Given the description of an element on the screen output the (x, y) to click on. 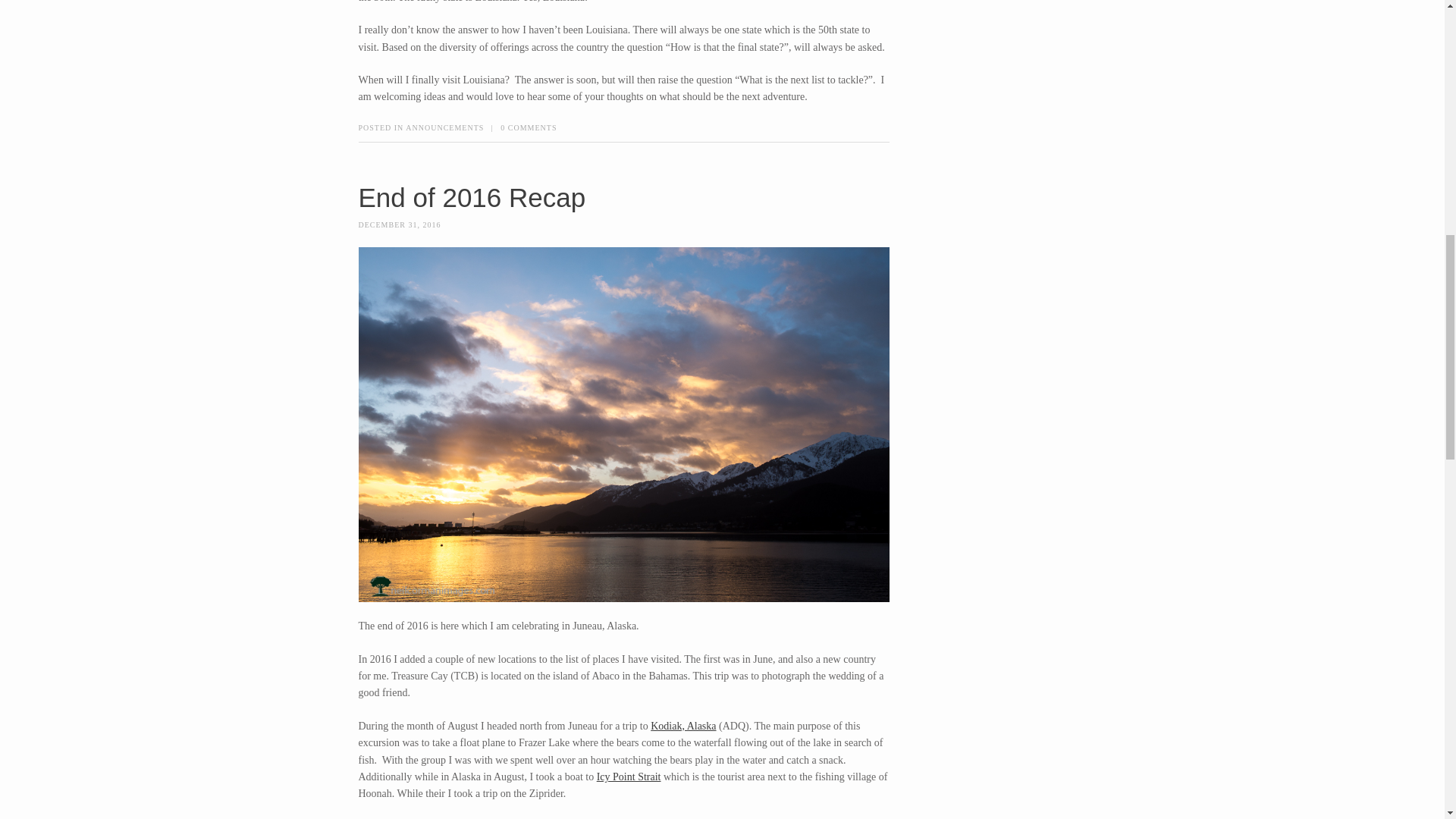
Kodiak, Alaska (683, 726)
Icy Point Strait (628, 776)
Permalink to End of 2016 Recap (471, 197)
7:30 pm (399, 224)
0 COMMENTS (528, 127)
ANNOUNCEMENTS (444, 127)
DECEMBER 31, 2016 (399, 224)
End of 2016 Recap (471, 197)
